Given the description of an element on the screen output the (x, y) to click on. 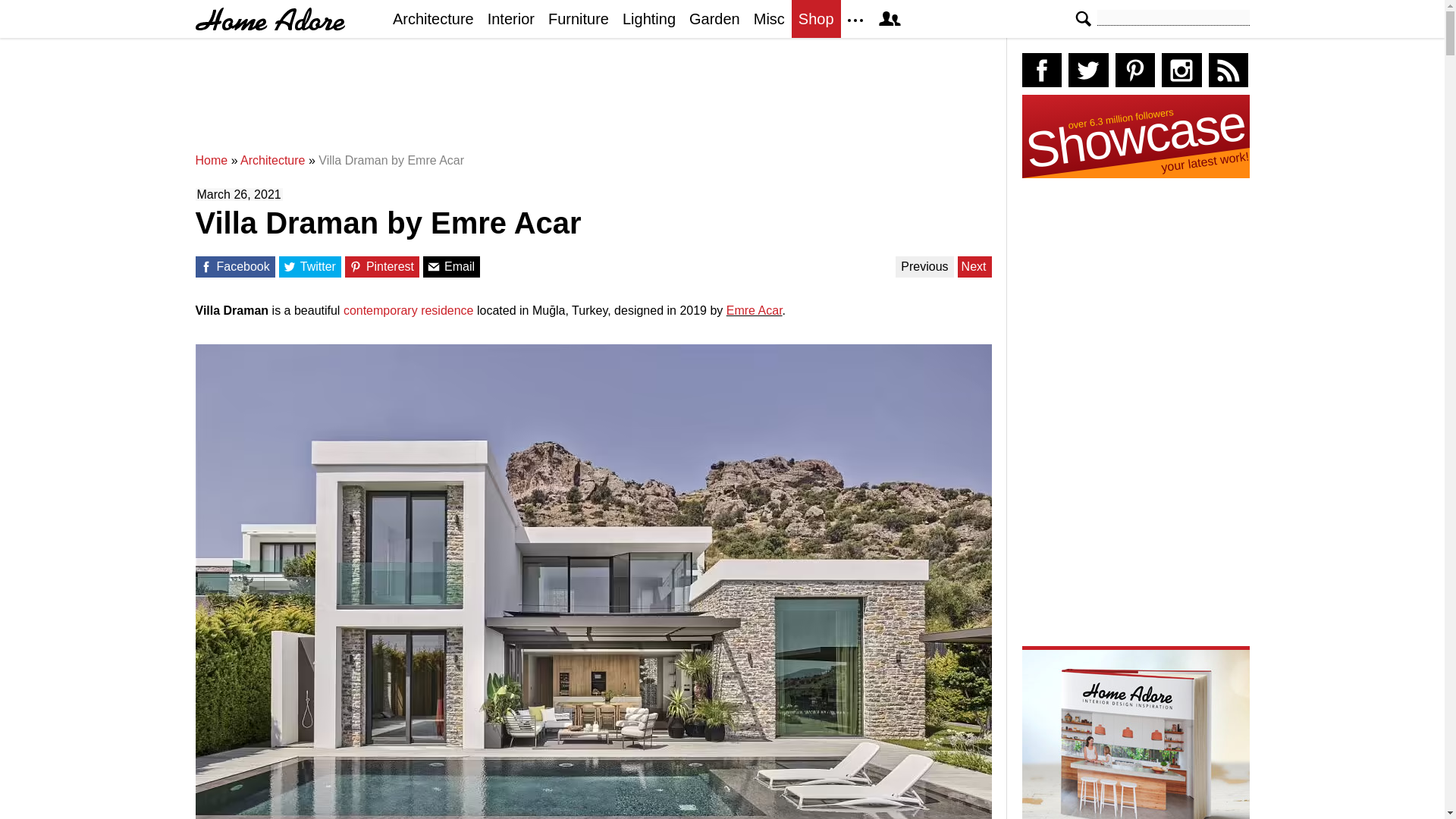
Lighting (648, 18)
Share on Facebook (205, 266)
Architecture (432, 18)
Home (211, 160)
HomeAdore (270, 19)
Interior (510, 18)
Architecture (272, 160)
Furniture (578, 18)
Architecture (272, 160)
Home (211, 160)
Misc (769, 18)
HomeAdore (270, 19)
Villa Draman by Emre Acar (391, 160)
Garden (714, 18)
Share on Twitter (289, 266)
